Given the description of an element on the screen output the (x, y) to click on. 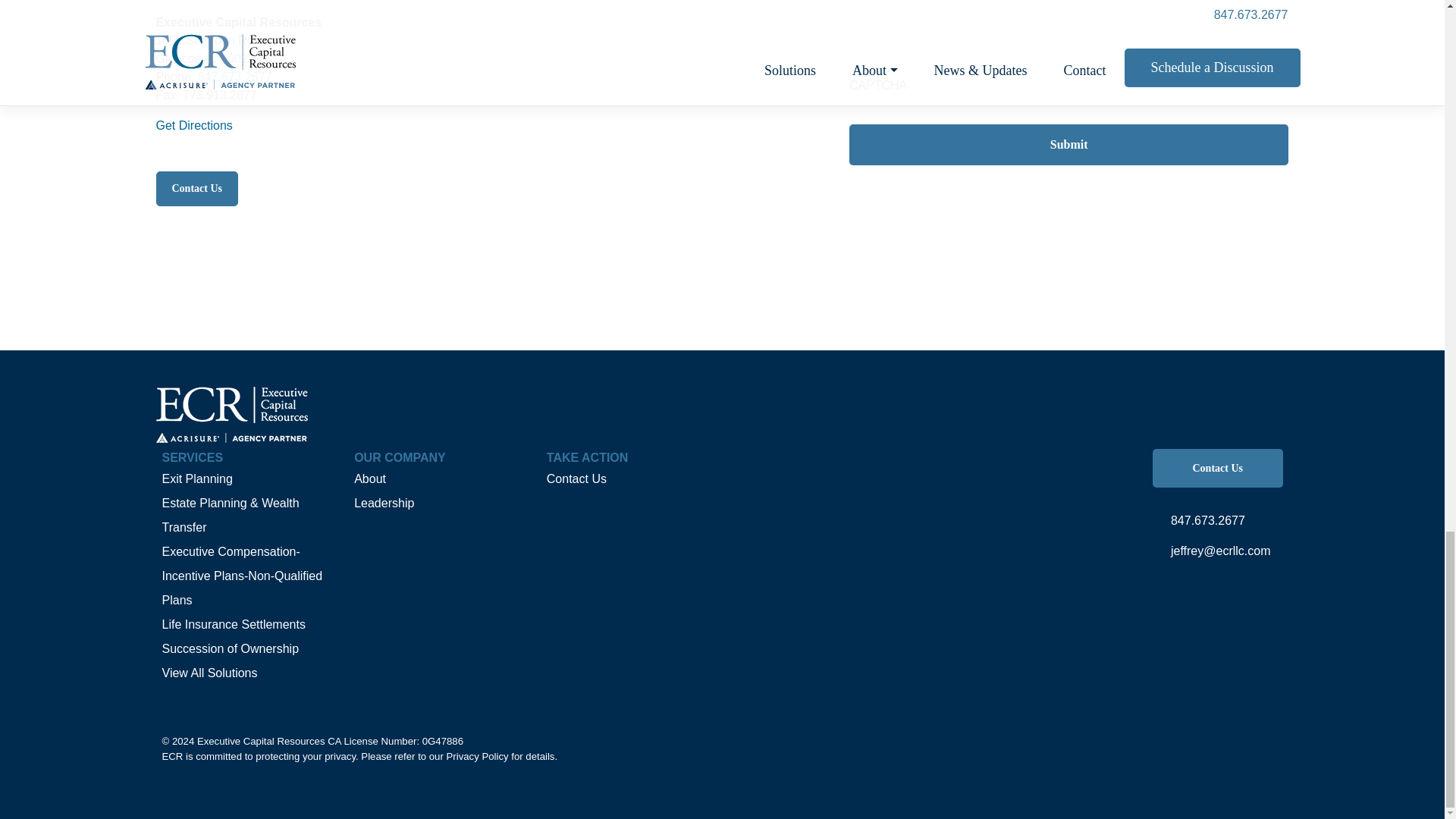
Privacy Policy (477, 756)
Exit Planning (196, 478)
Life Insurance Settlements (233, 624)
Executive Capital Resources (260, 740)
847.673.2677 (1217, 521)
Leadership (383, 502)
Submit (1068, 144)
View All Solutions (209, 672)
847.673.2677 (235, 76)
Executive Compensation-Incentive Plans-Non-Qualified Plans (242, 575)
